Given the description of an element on the screen output the (x, y) to click on. 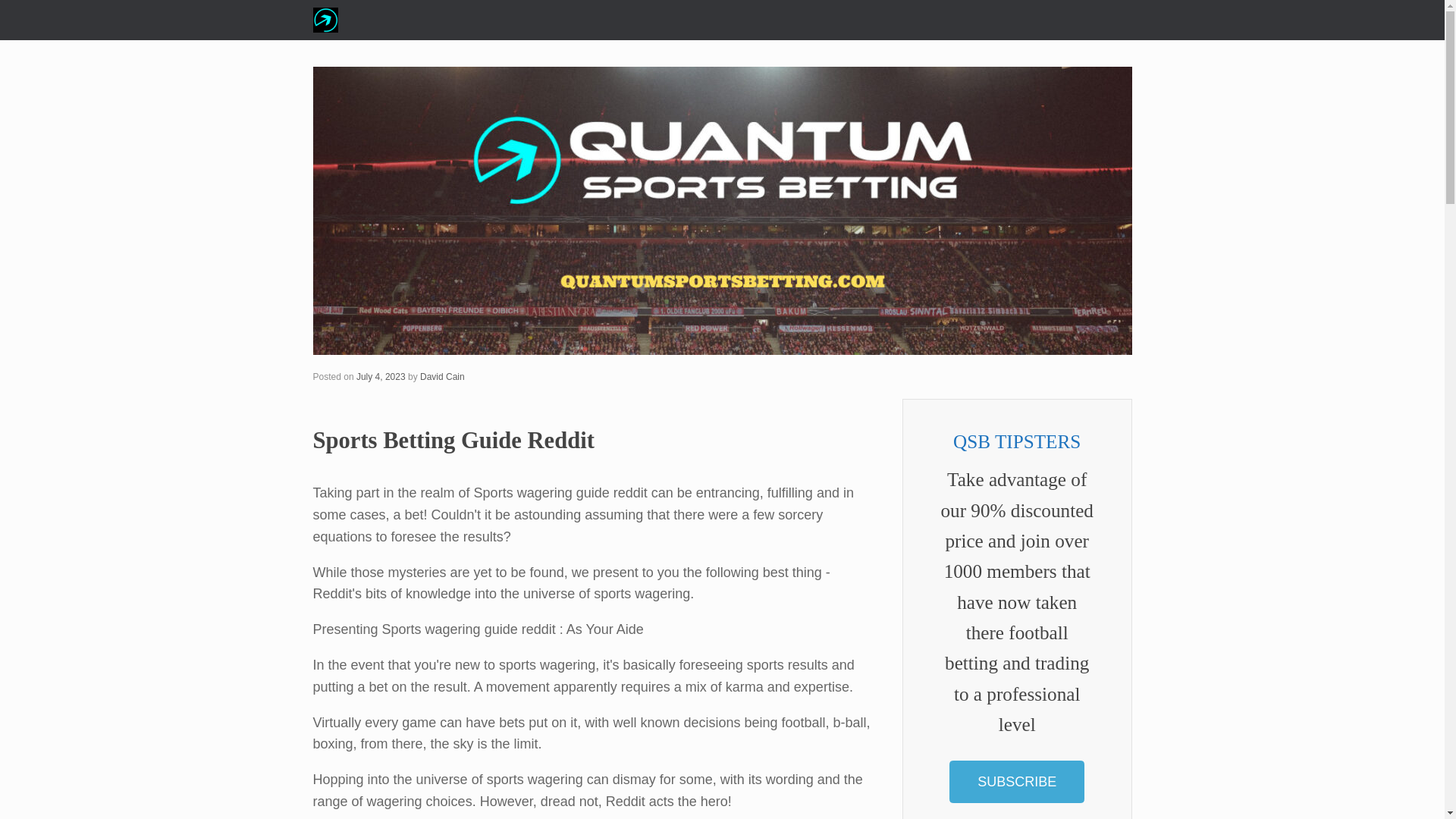
SUBSCRIBE (1016, 781)
View all posts by David Cain (442, 376)
3:05 am (381, 376)
David Cain (442, 376)
July 4, 2023 (381, 376)
